Given the description of an element on the screen output the (x, y) to click on. 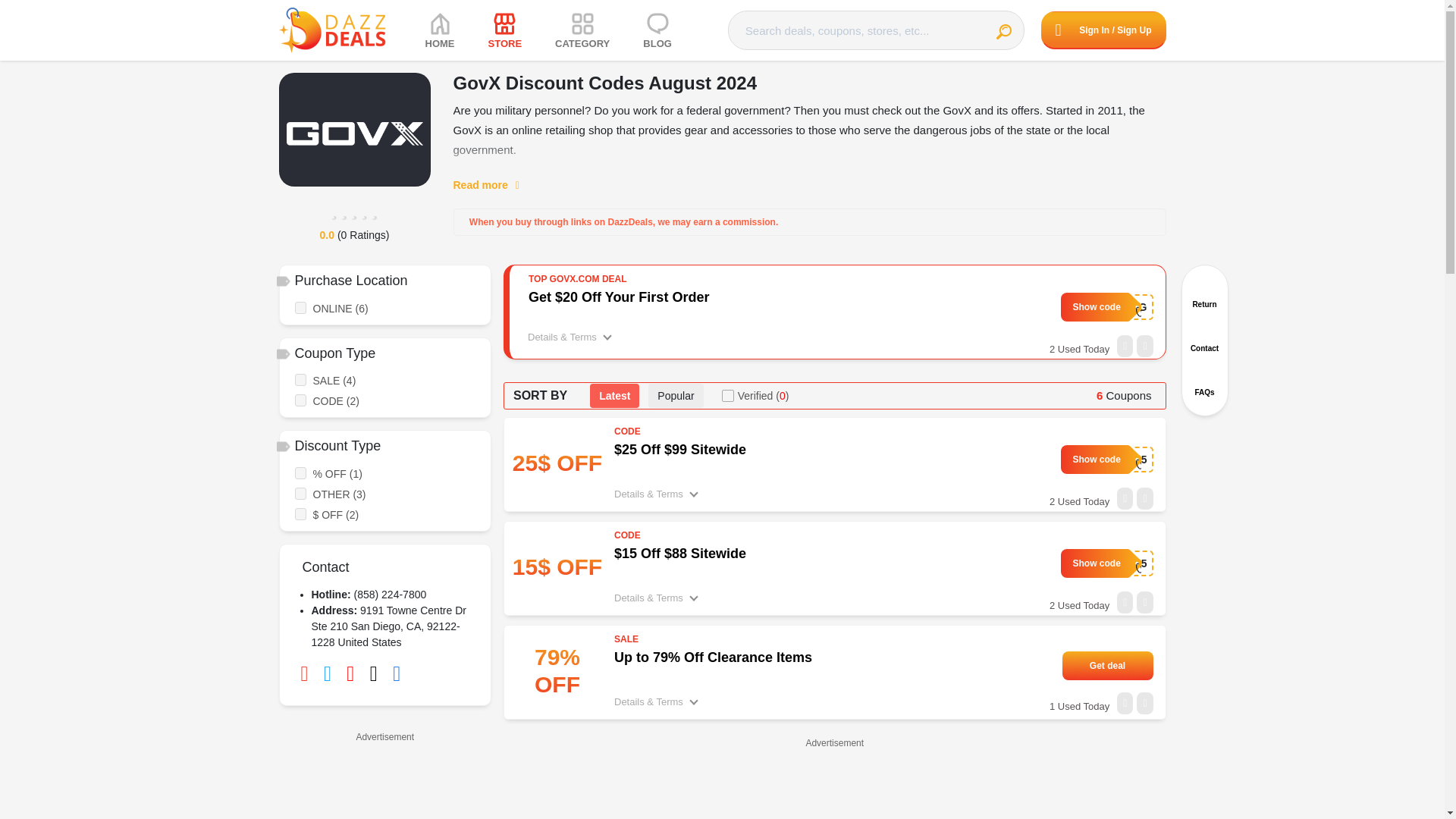
CATEGORY (582, 29)
STORE (504, 29)
CATEGORY (582, 29)
Return (1204, 296)
Contact (1203, 340)
STORE (504, 29)
RG25 (1107, 459)
Contact (1203, 340)
Advertisement (834, 786)
LING (1107, 307)
Return (1204, 296)
Advertisement (384, 783)
Read more (493, 185)
